Given the description of an element on the screen output the (x, y) to click on. 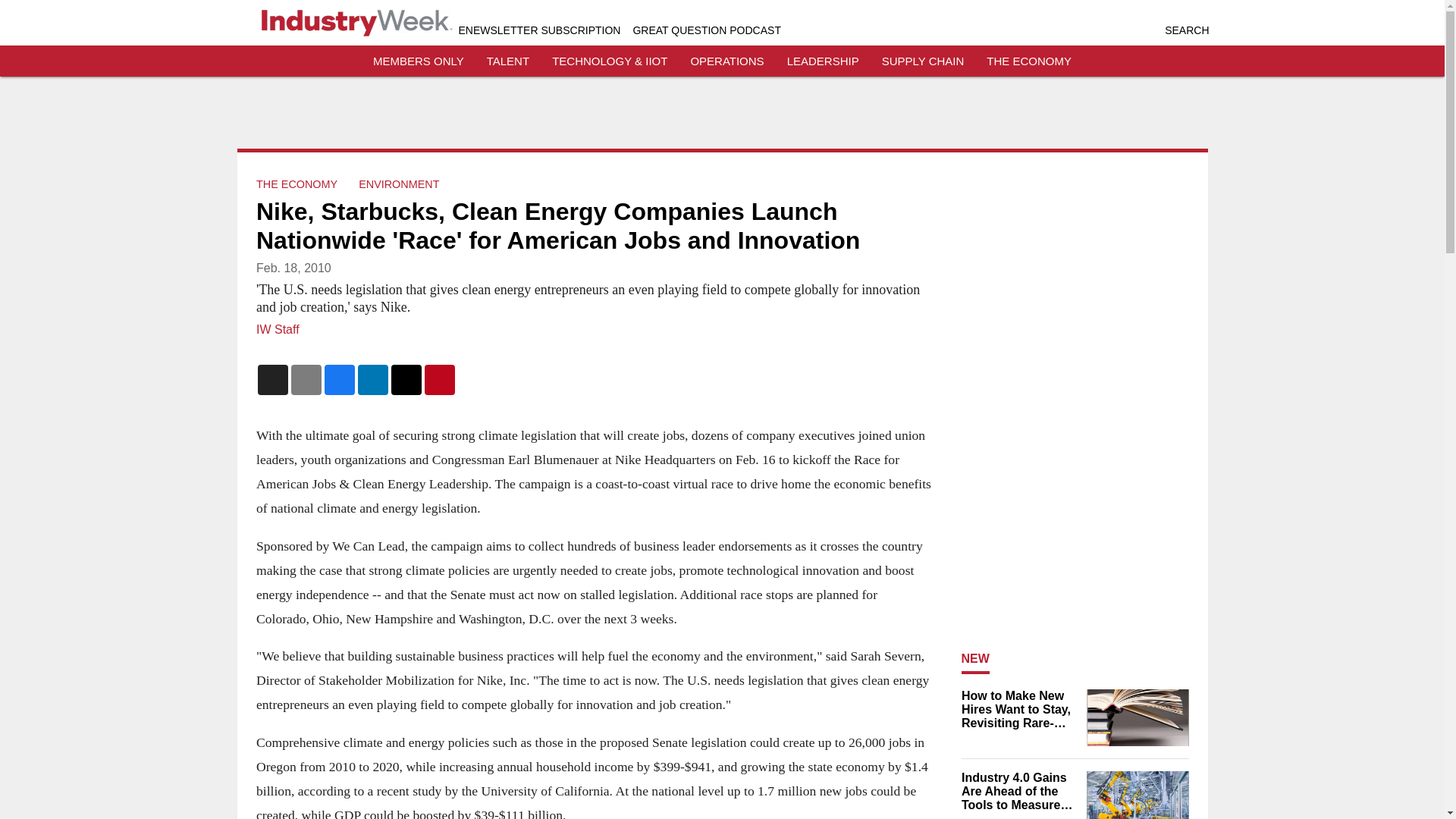
MEMBERS ONLY (418, 60)
GREAT QUESTION PODCAST (705, 30)
OPERATIONS (726, 60)
TALENT (507, 60)
THE ECONOMY (1029, 60)
SEARCH (1186, 30)
ENVIRONMENT (398, 184)
LEADERSHIP (823, 60)
THE ECONOMY (296, 184)
ENEWSLETTER SUBSCRIPTION (539, 30)
IW Staff (277, 328)
SUPPLY CHAIN (922, 60)
Industry 4.0 Gains Are Ahead of the Tools to Measure Them (1019, 791)
